Given the description of an element on the screen output the (x, y) to click on. 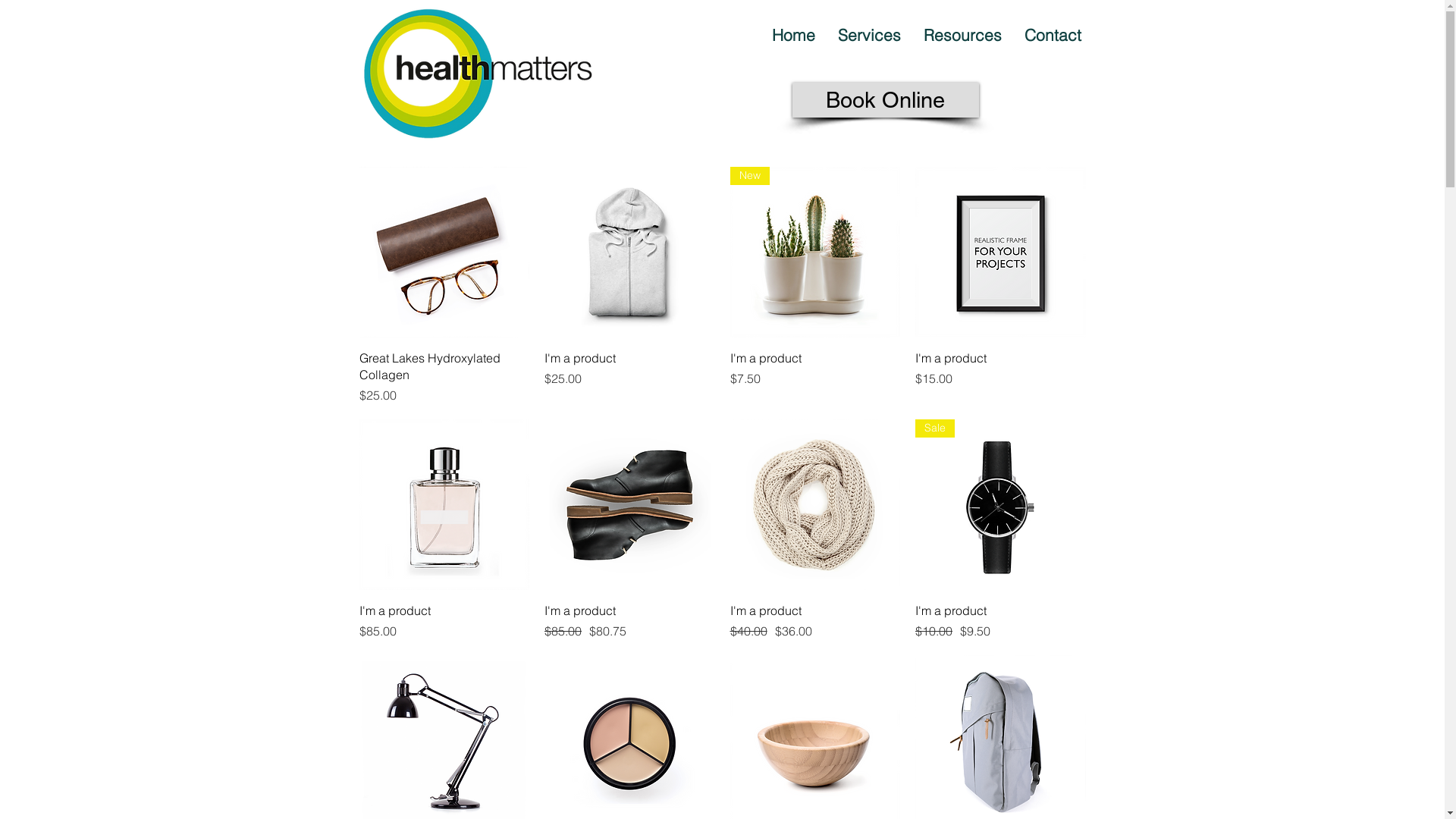
I'm a product
Price
$7.50 Element type: text (814, 376)
Sale Element type: text (1000, 504)
I'm a product
Regular Price
$85.00
Sale Price
$80.75 Element type: text (629, 621)
Great Lakes Hydroxylated Collagen
Price
$25.00 Element type: text (444, 376)
I'm a product
Price
$25.00 Element type: text (629, 376)
Resources Element type: text (961, 34)
Services Element type: text (869, 34)
Book Online Element type: text (884, 99)
New Element type: text (814, 251)
Home Element type: text (792, 34)
I'm a product
Price
$15.00 Element type: text (1000, 376)
Contact Element type: text (1052, 34)
I'm a product
Regular Price
$40.00
Sale Price
$36.00 Element type: text (814, 621)
I'm a product
Regular Price
$10.00
Sale Price
$9.50 Element type: text (1000, 621)
I'm a product
Price
$85.00 Element type: text (444, 621)
